Given the description of an element on the screen output the (x, y) to click on. 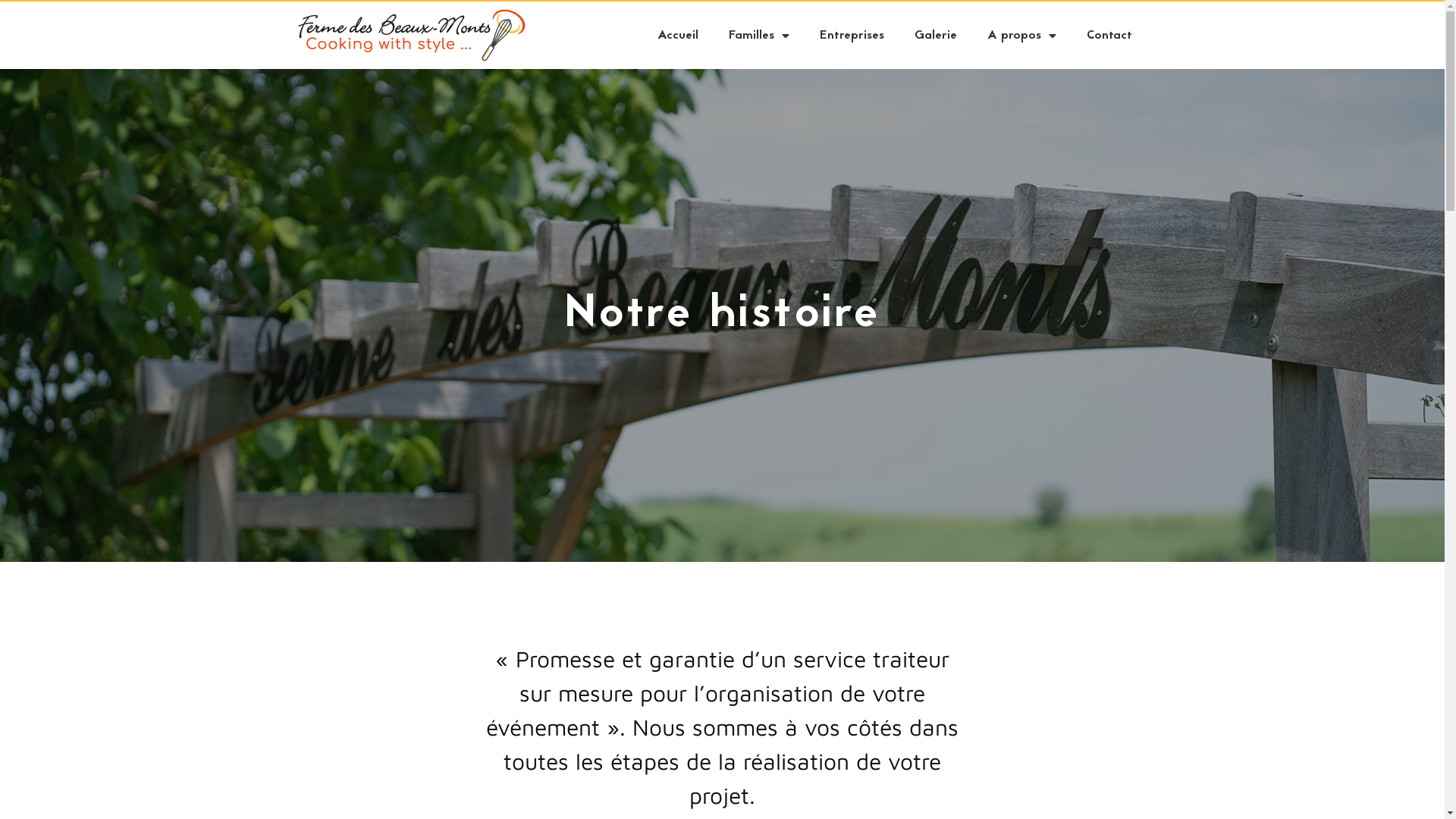
Familles Element type: text (757, 35)
A propos Element type: text (1021, 35)
Entreprises Element type: text (850, 35)
Accueil Element type: text (676, 35)
Galerie Element type: text (935, 35)
Contact Element type: text (1108, 35)
